Given the description of an element on the screen output the (x, y) to click on. 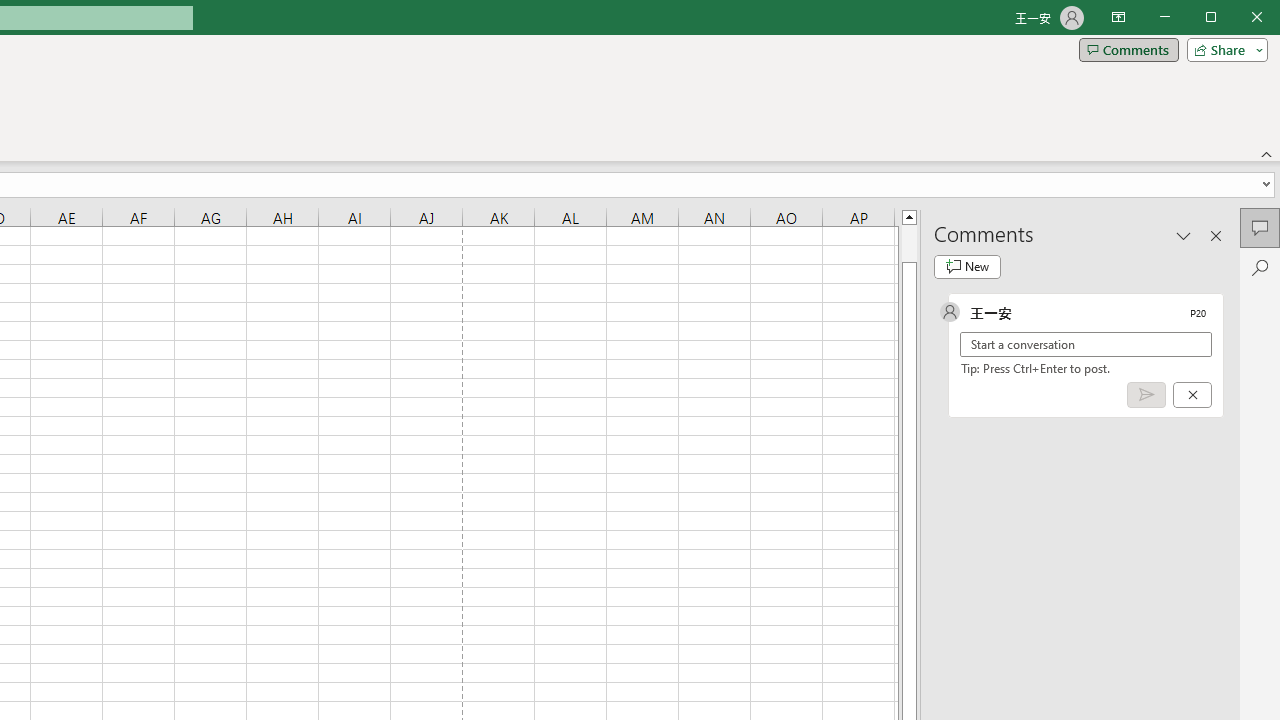
Start a conversation (1085, 344)
Search (1260, 267)
Maximize (1239, 18)
Post comment (Ctrl + Enter) (1146, 395)
New comment (967, 266)
Cancel (1192, 395)
